Given the description of an element on the screen output the (x, y) to click on. 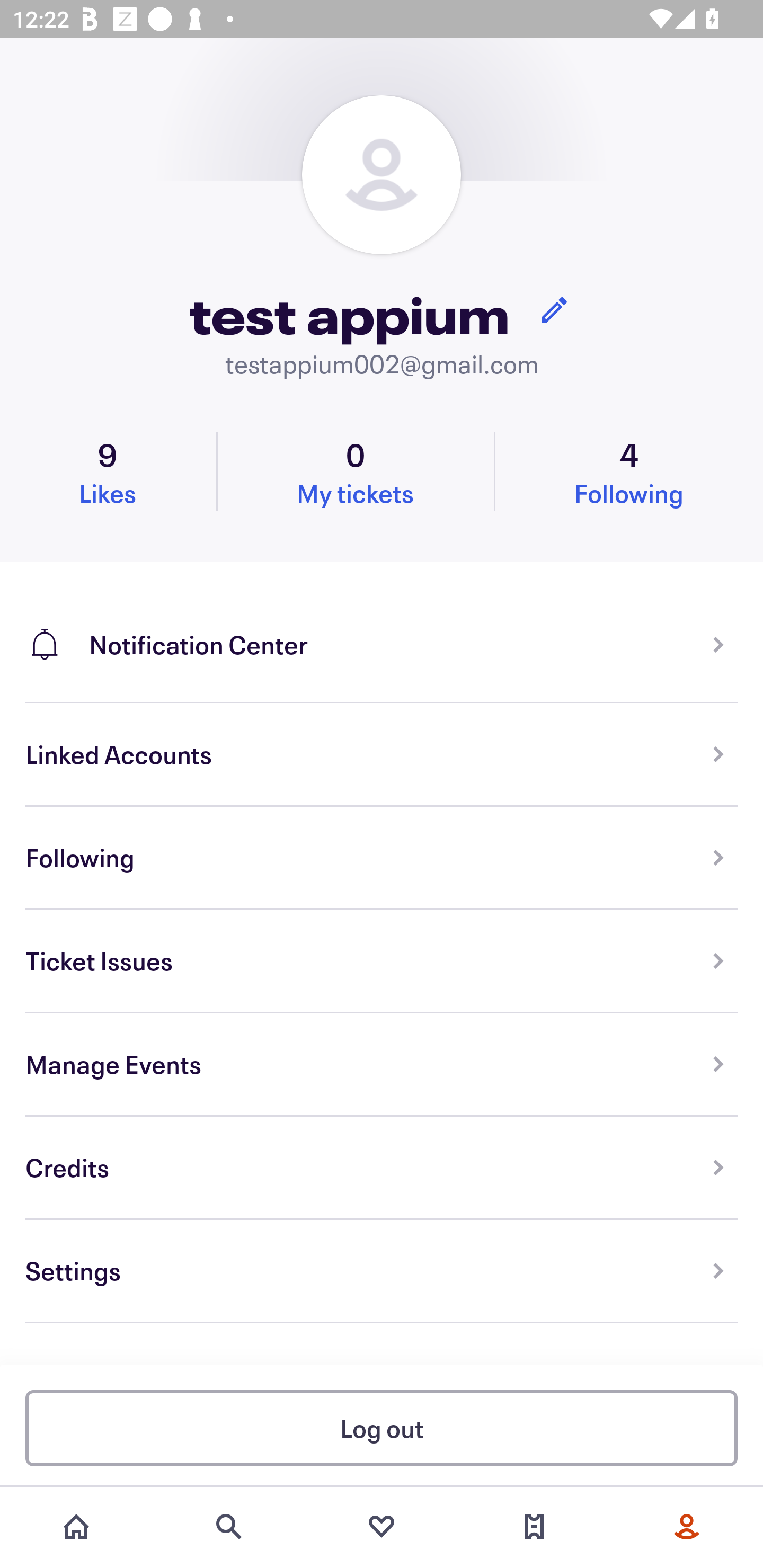
test appium testappium002@gmail.com (381, 238)
9 Likes (107, 470)
0 My tickets (355, 470)
4 Following (629, 470)
Notification Center (381, 632)
Linked Accounts (381, 755)
Following (381, 858)
Ticket Issues (381, 960)
Manage Events (381, 1064)
Credits (381, 1167)
Settings (381, 1271)
Log out (381, 1427)
Home (76, 1526)
Search events (228, 1526)
Favorites (381, 1526)
Tickets (533, 1526)
More (686, 1526)
